Given the description of an element on the screen output the (x, y) to click on. 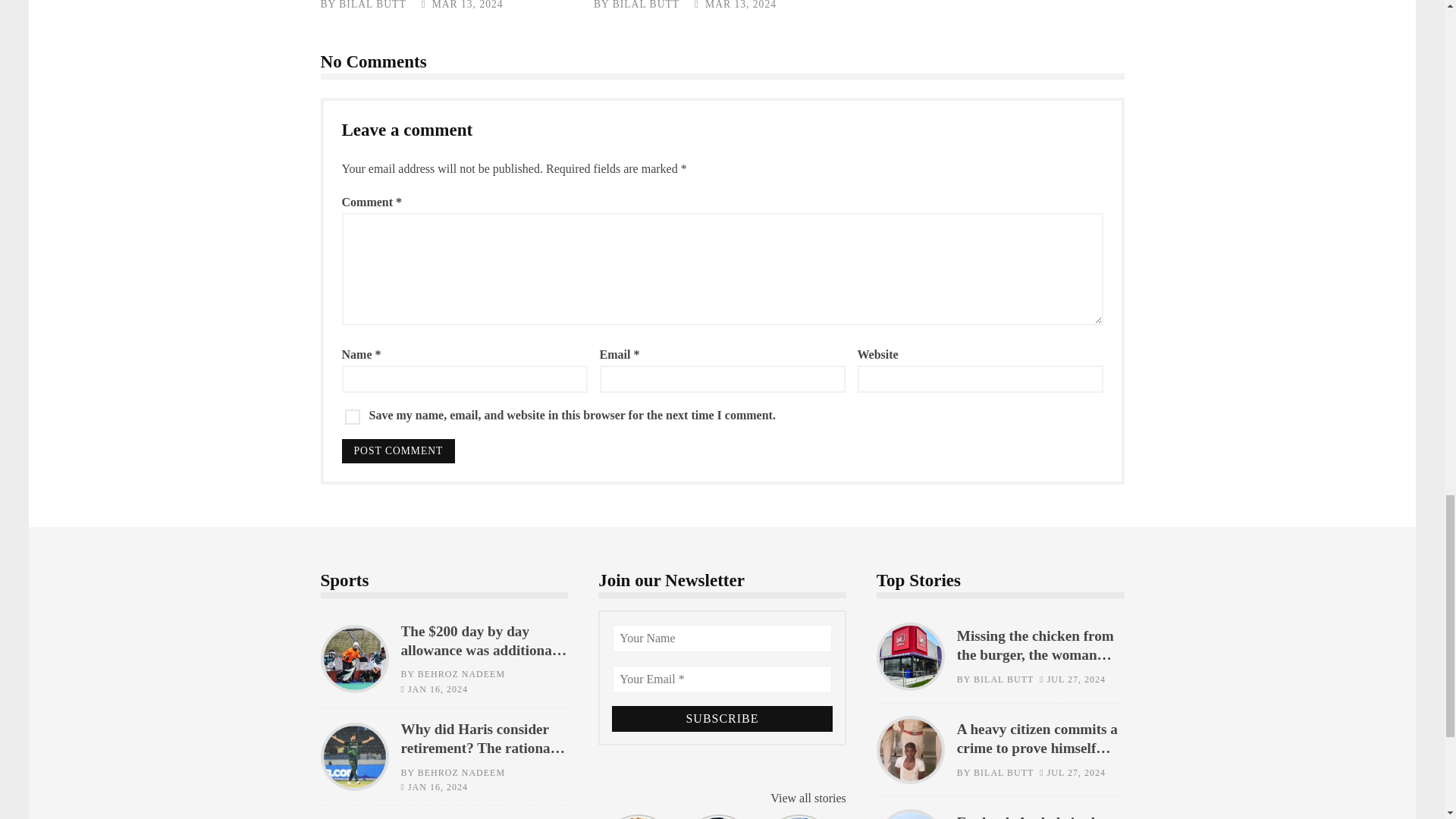
Posts by Bilal Butt (372, 4)
Post Comment (397, 450)
Posts by Bilal Butt (645, 4)
Subscribe (721, 718)
yes (351, 417)
